Given the description of an element on the screen output the (x, y) to click on. 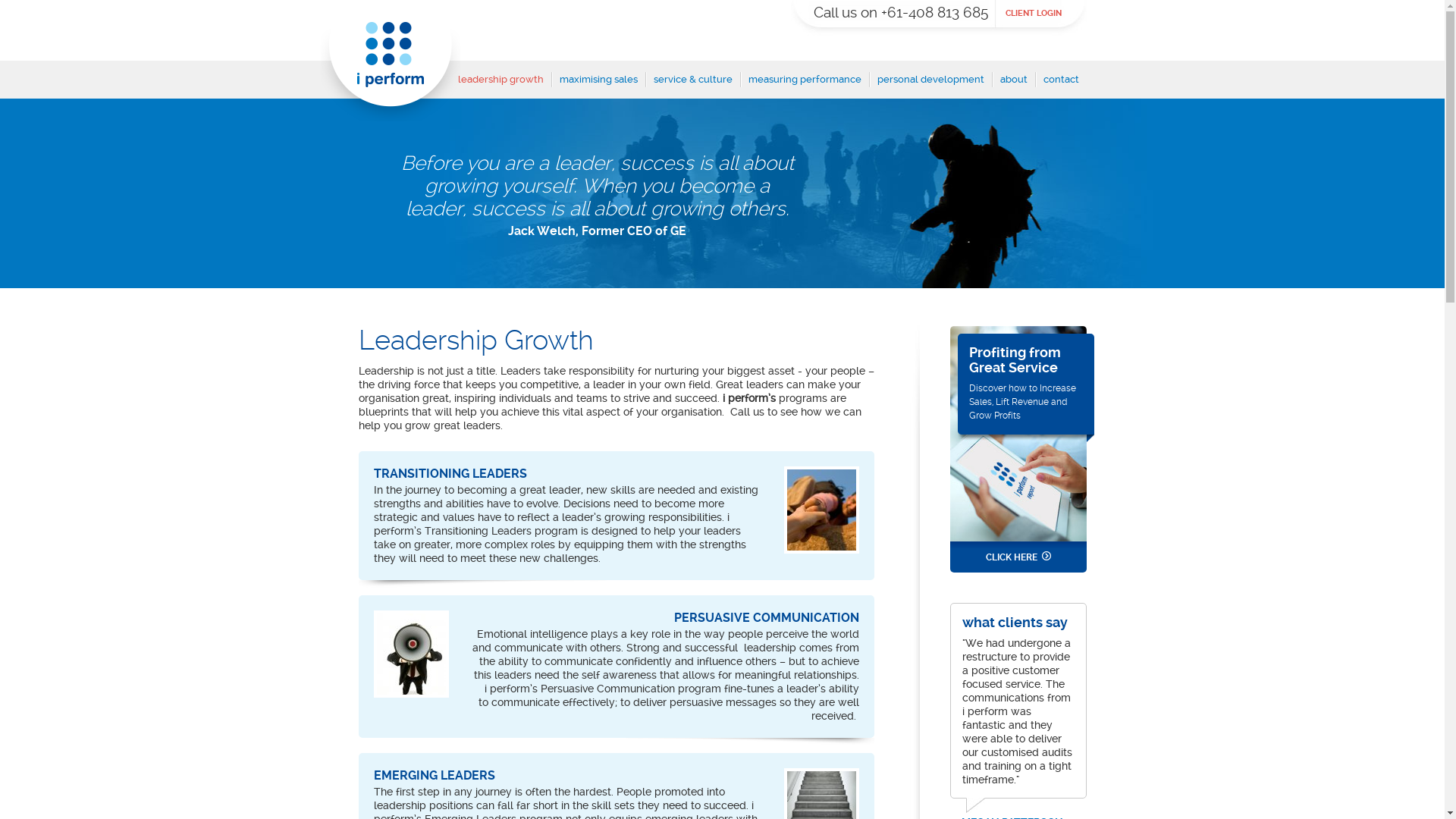
CLICK HERE Element type: text (1017, 556)
measuring performance Element type: text (803, 85)
about Element type: text (1012, 85)
contact Element type: text (1061, 85)
leadership growth Element type: text (500, 85)
service & culture Element type: text (692, 85)
personal development Element type: text (929, 85)
maximising sales Element type: text (598, 85)
